Given the description of an element on the screen output the (x, y) to click on. 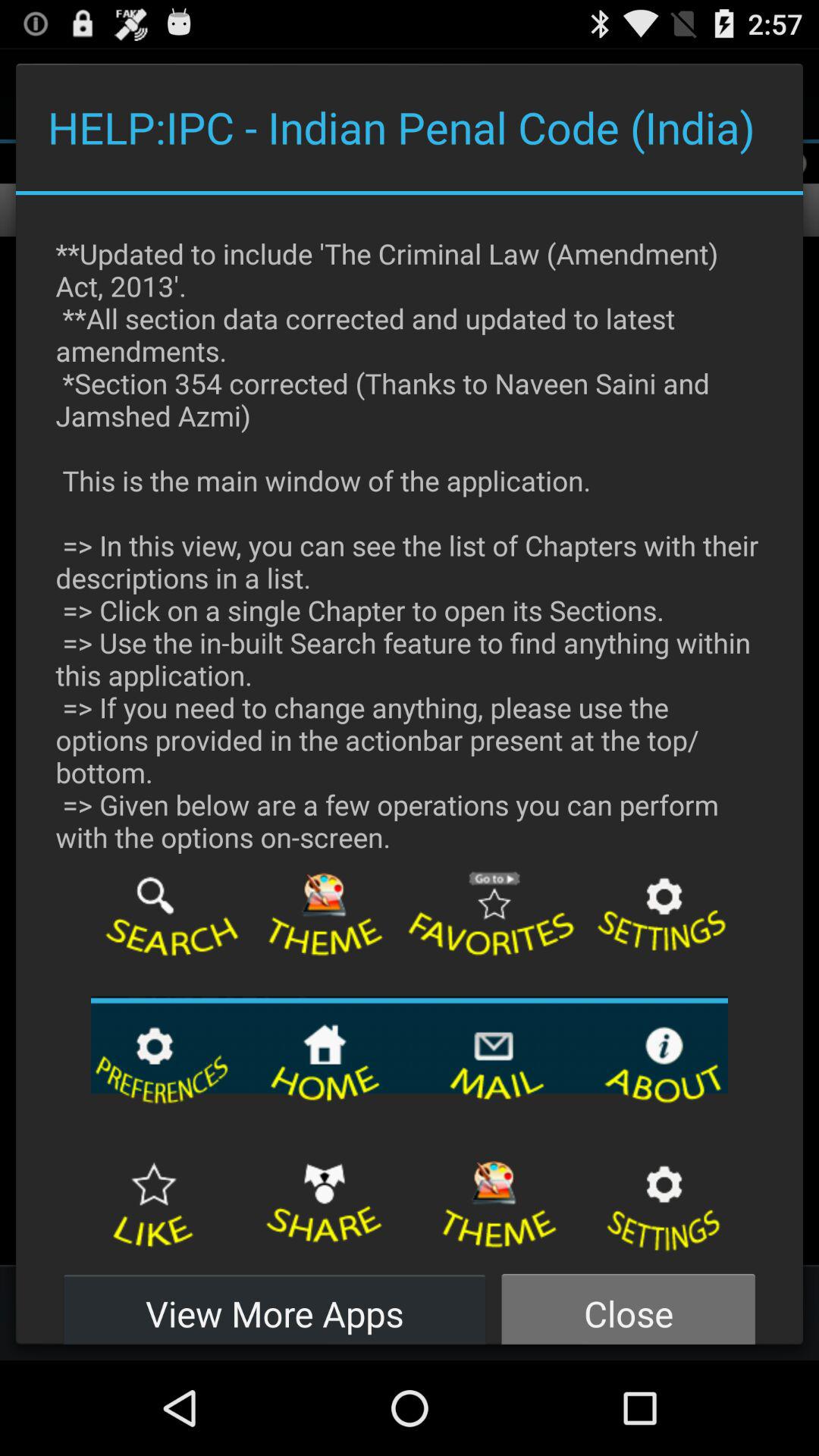
choose the button next to the close button (274, 1305)
